Given the description of an element on the screen output the (x, y) to click on. 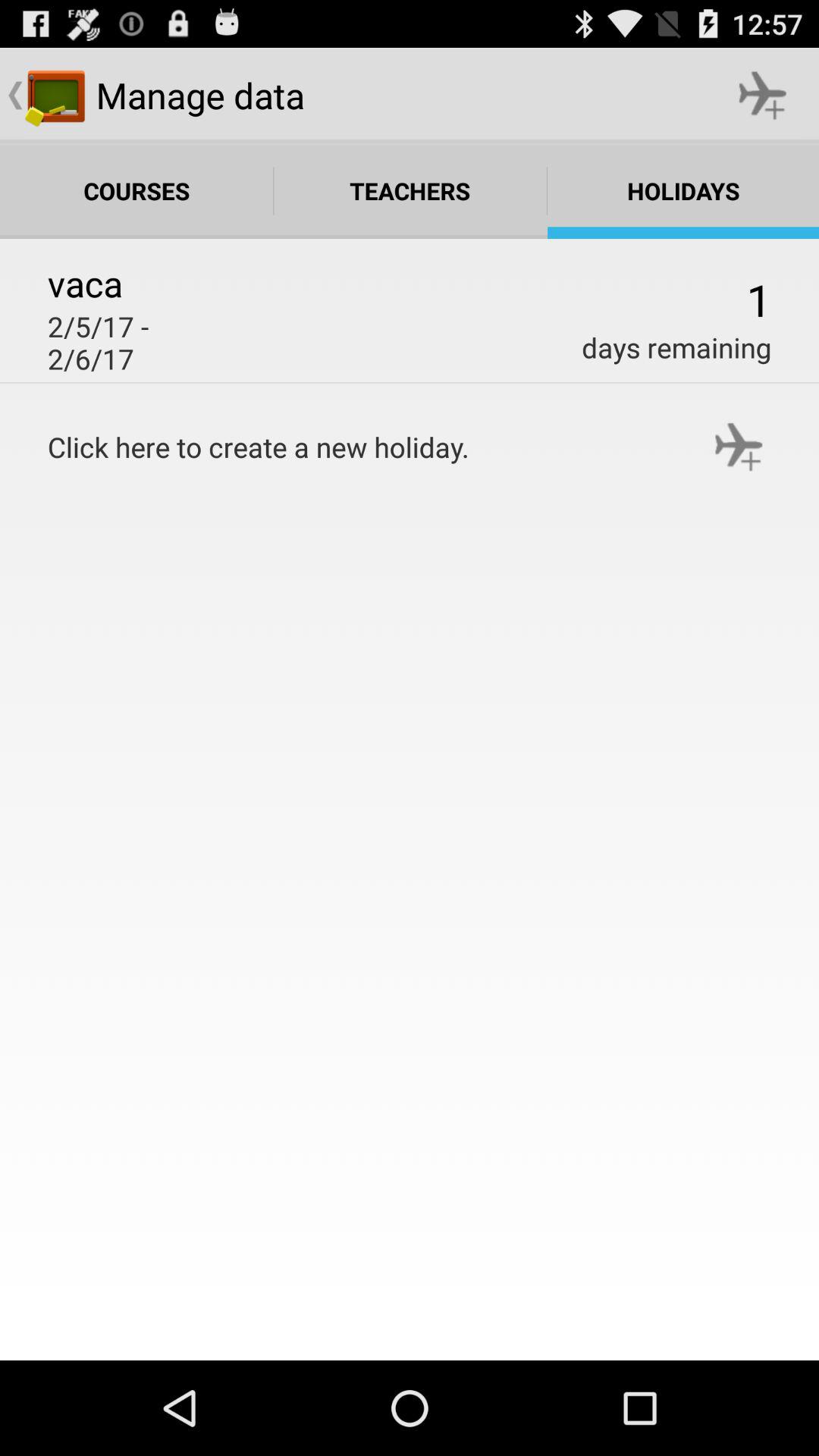
turn off the icon next to manage data icon (763, 95)
